Given the description of an element on the screen output the (x, y) to click on. 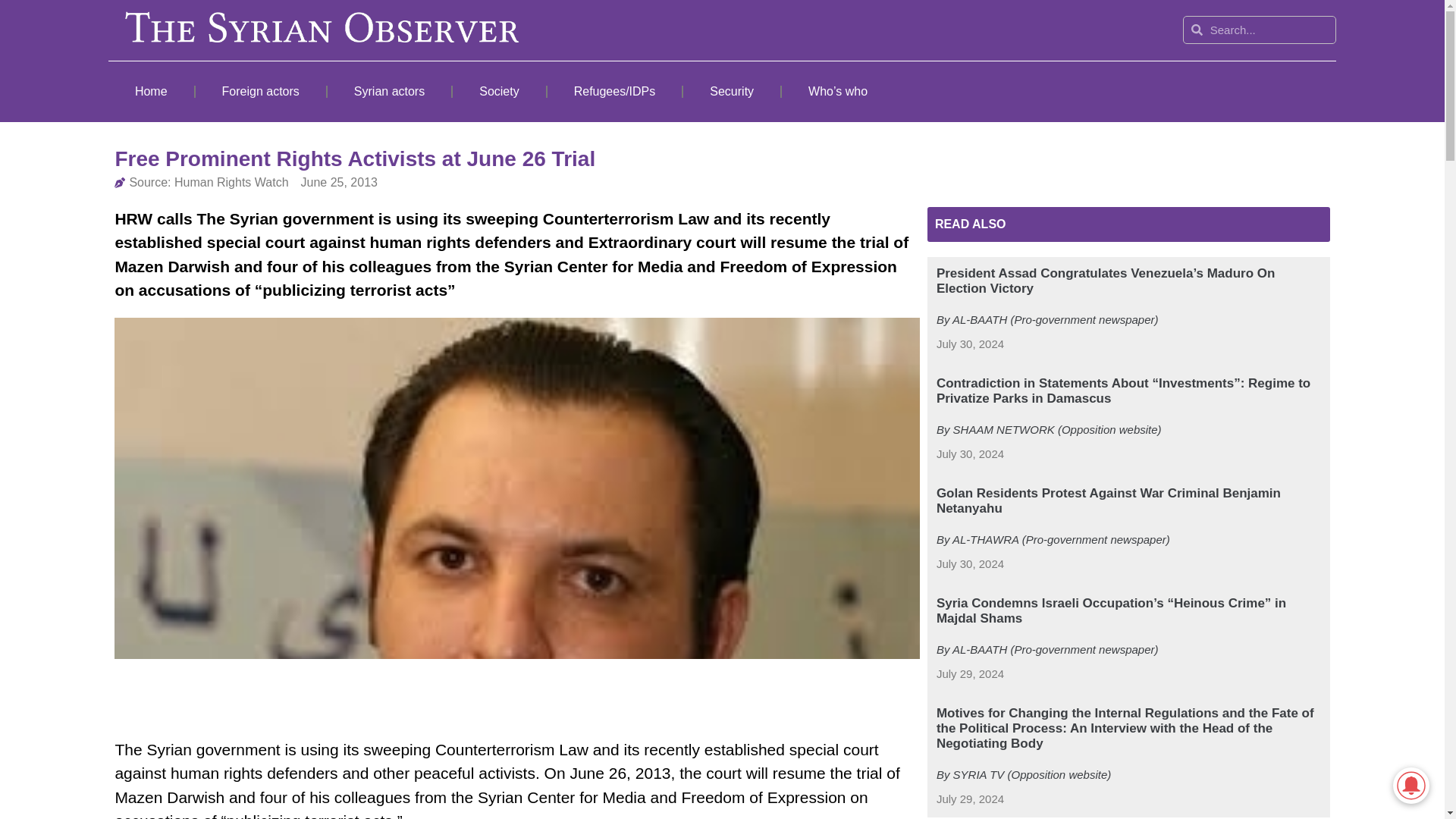
Foreign actors (260, 91)
July 30, 2024 (970, 343)
Home (150, 91)
July 29, 2024 (970, 799)
Security (731, 91)
July 30, 2024 (970, 564)
July 29, 2024 (970, 674)
Syrian actors (389, 91)
July 30, 2024 (970, 454)
Society (498, 91)
